Given the description of an element on the screen output the (x, y) to click on. 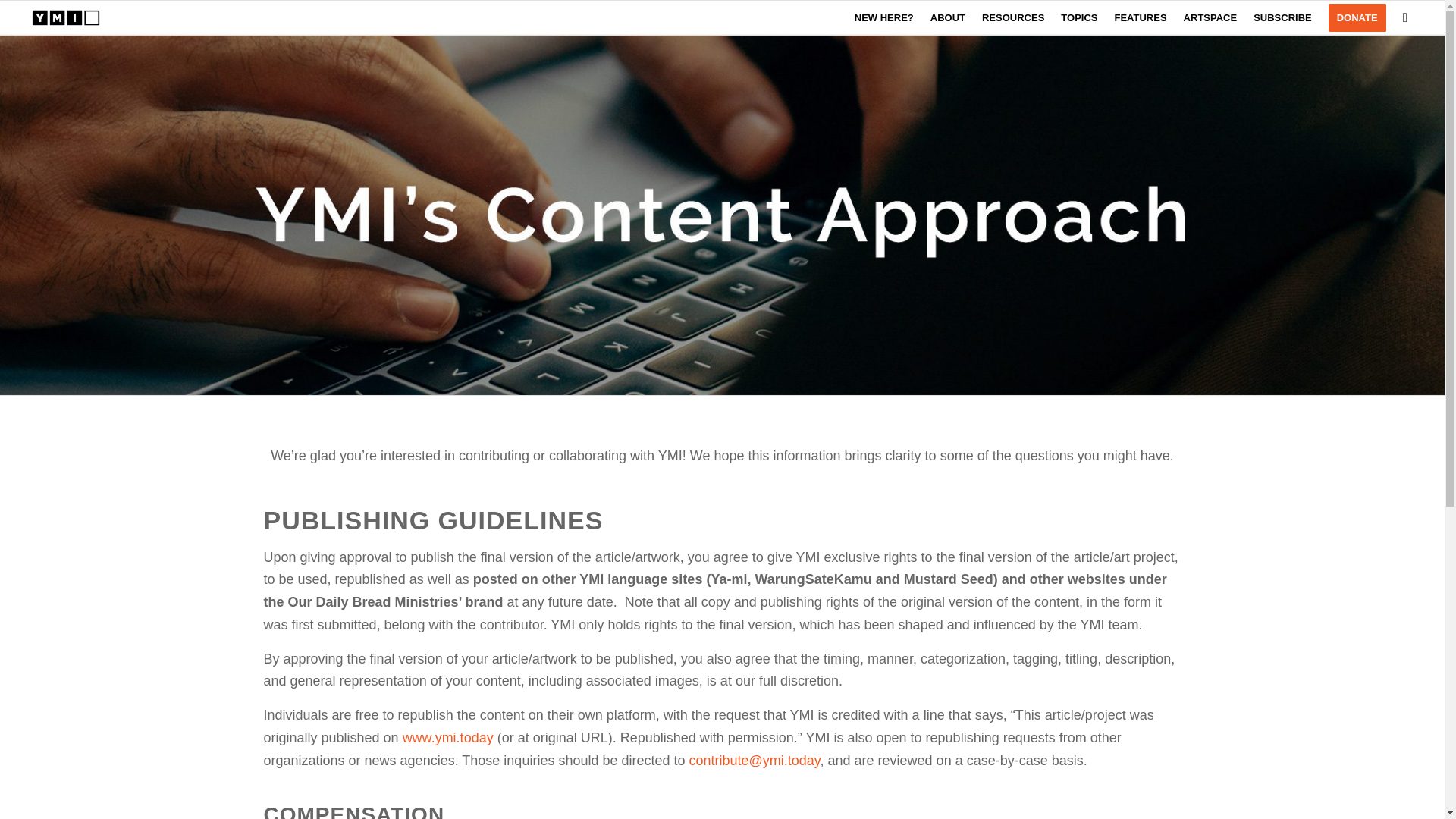
ABOUT (947, 17)
RESOURCES (1013, 17)
TOPICS (1078, 17)
NEW HERE? (883, 17)
ymi-logo-black-3 (66, 17)
